Given the description of an element on the screen output the (x, y) to click on. 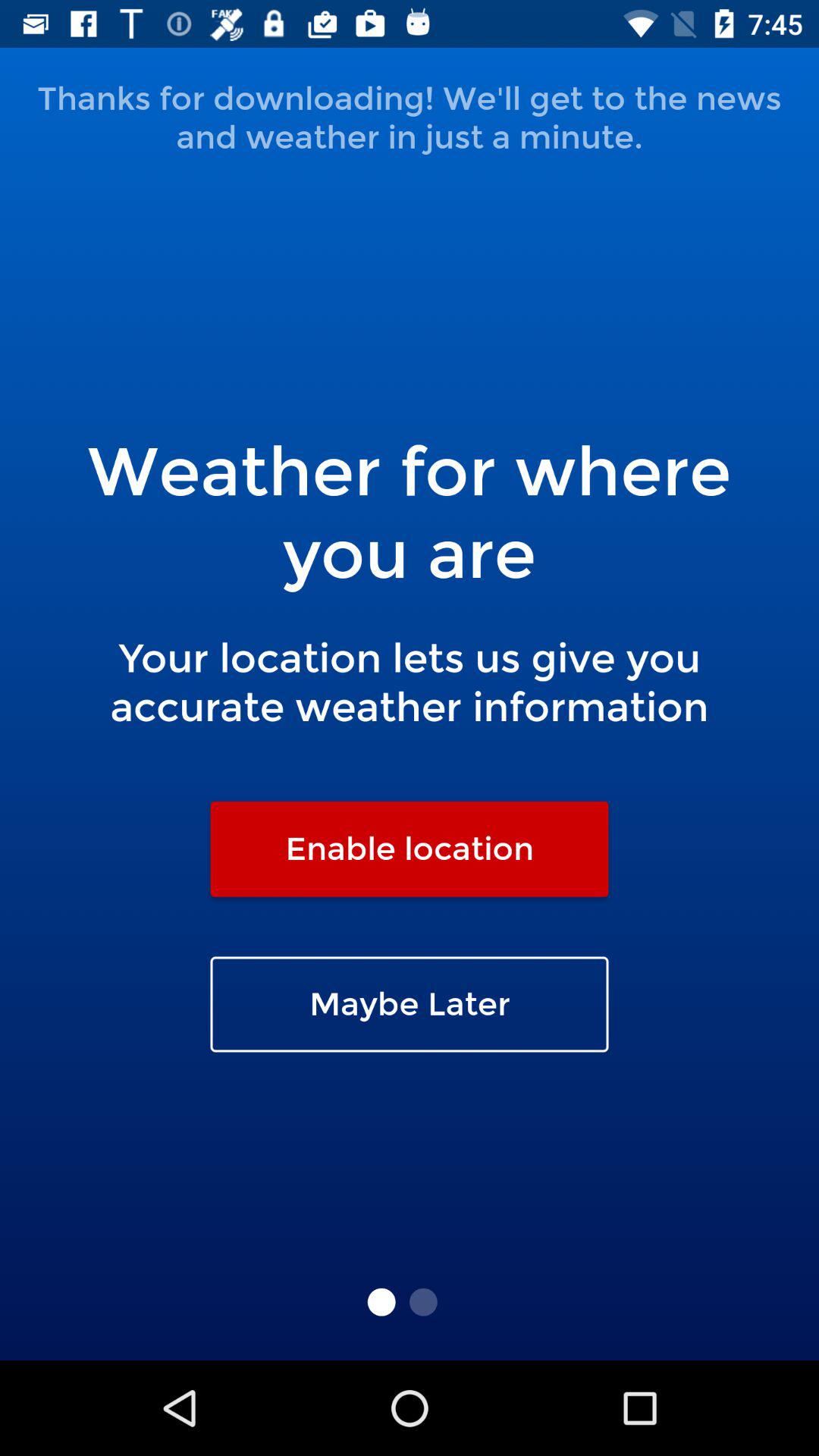
choose enable location icon (409, 848)
